Given the description of an element on the screen output the (x, y) to click on. 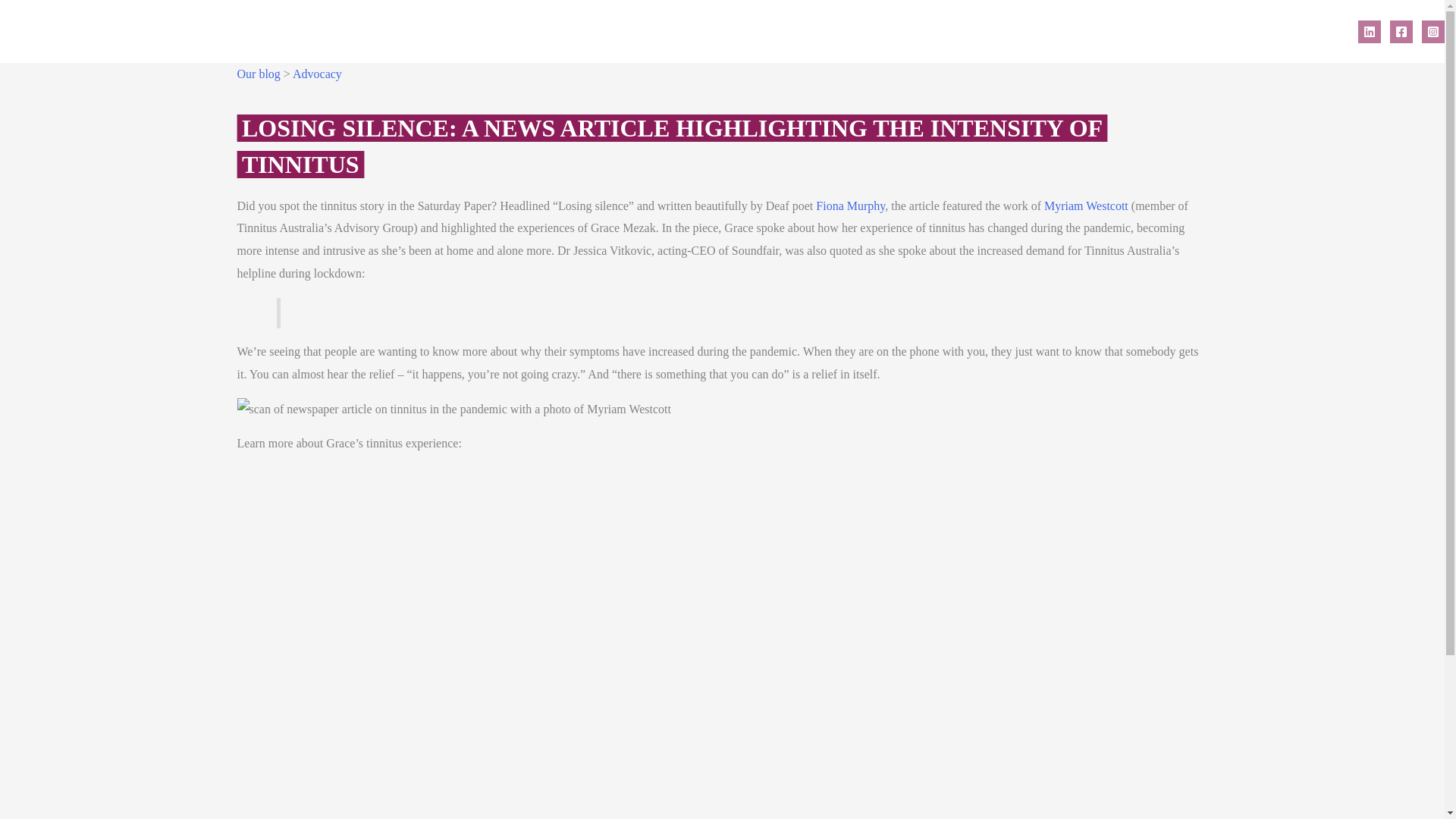
News (1261, 30)
Storytelling (1199, 30)
Healthcare Providers (992, 30)
Get Support (895, 30)
Tinnitus Awareness (1106, 30)
Our blog (257, 73)
Contact (1313, 30)
Advocacy (317, 73)
Fiona Murphy (850, 205)
Myriam Westcott (1085, 205)
